Given the description of an element on the screen output the (x, y) to click on. 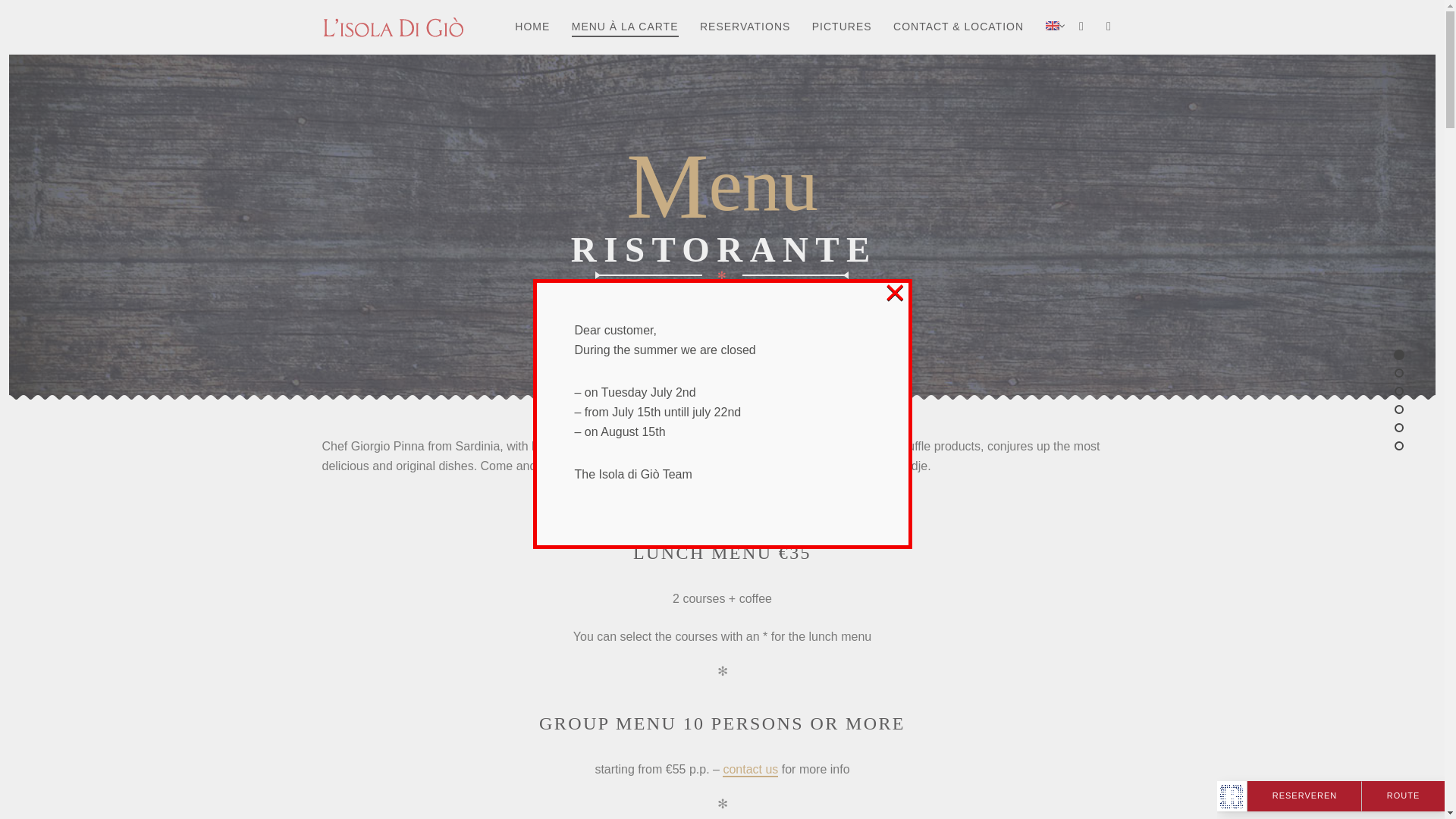
RESERVATIONS (744, 26)
PICTURES (841, 26)
FACEBOOK (1080, 25)
TRIPADVISOR (1108, 25)
contact us (749, 769)
HOME (532, 26)
